Given the description of an element on the screen output the (x, y) to click on. 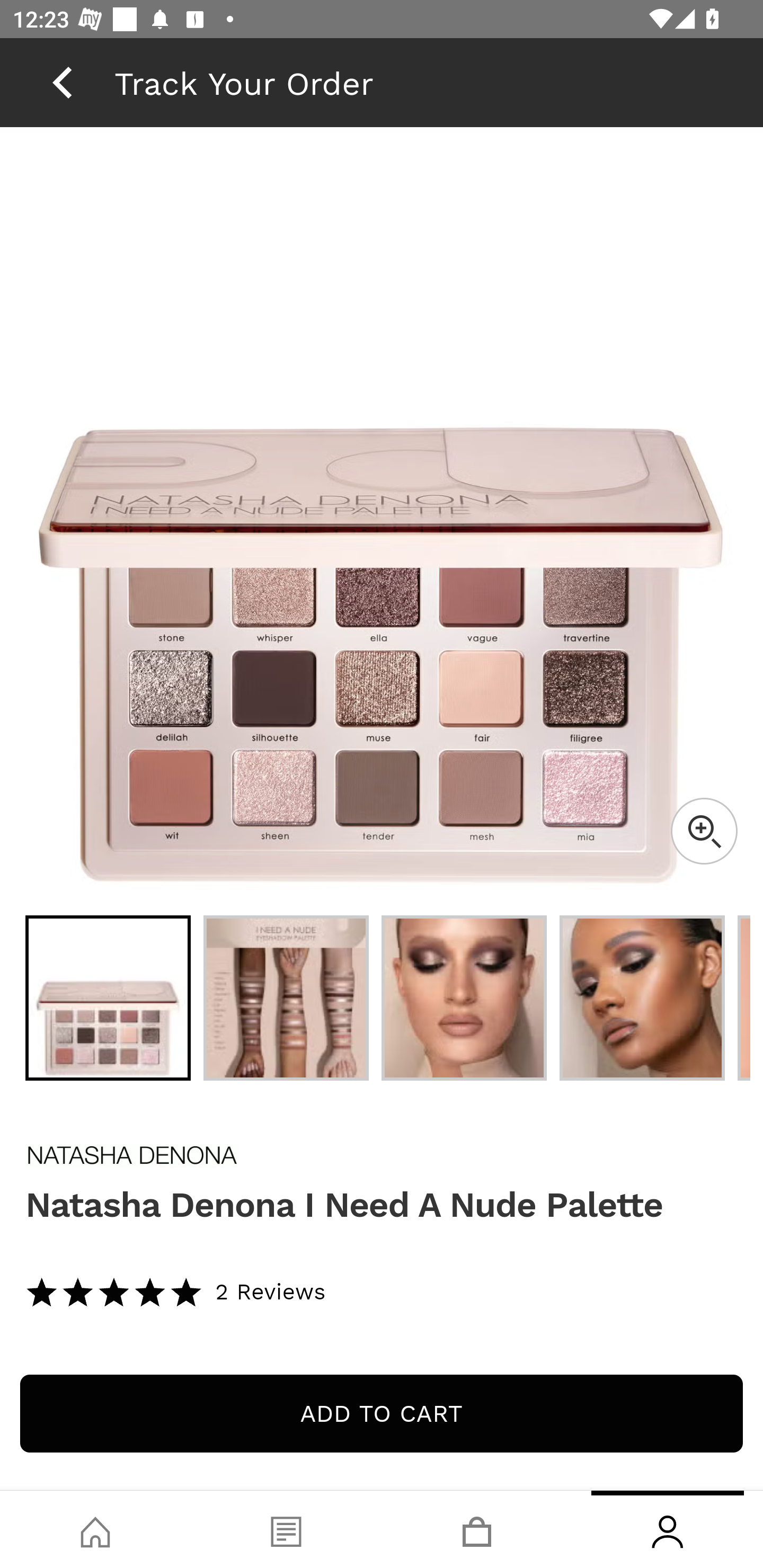
back (61, 82)
Zoom (703, 830)
Natasha Denona (381, 1156)
Add to cart (381, 1413)
Shop, tab, 1 of 4 (95, 1529)
Blog, tab, 2 of 4 (285, 1529)
Basket, tab, 3 of 4 (476, 1529)
Account, tab, 4 of 4 (667, 1529)
